Given the description of an element on the screen output the (x, y) to click on. 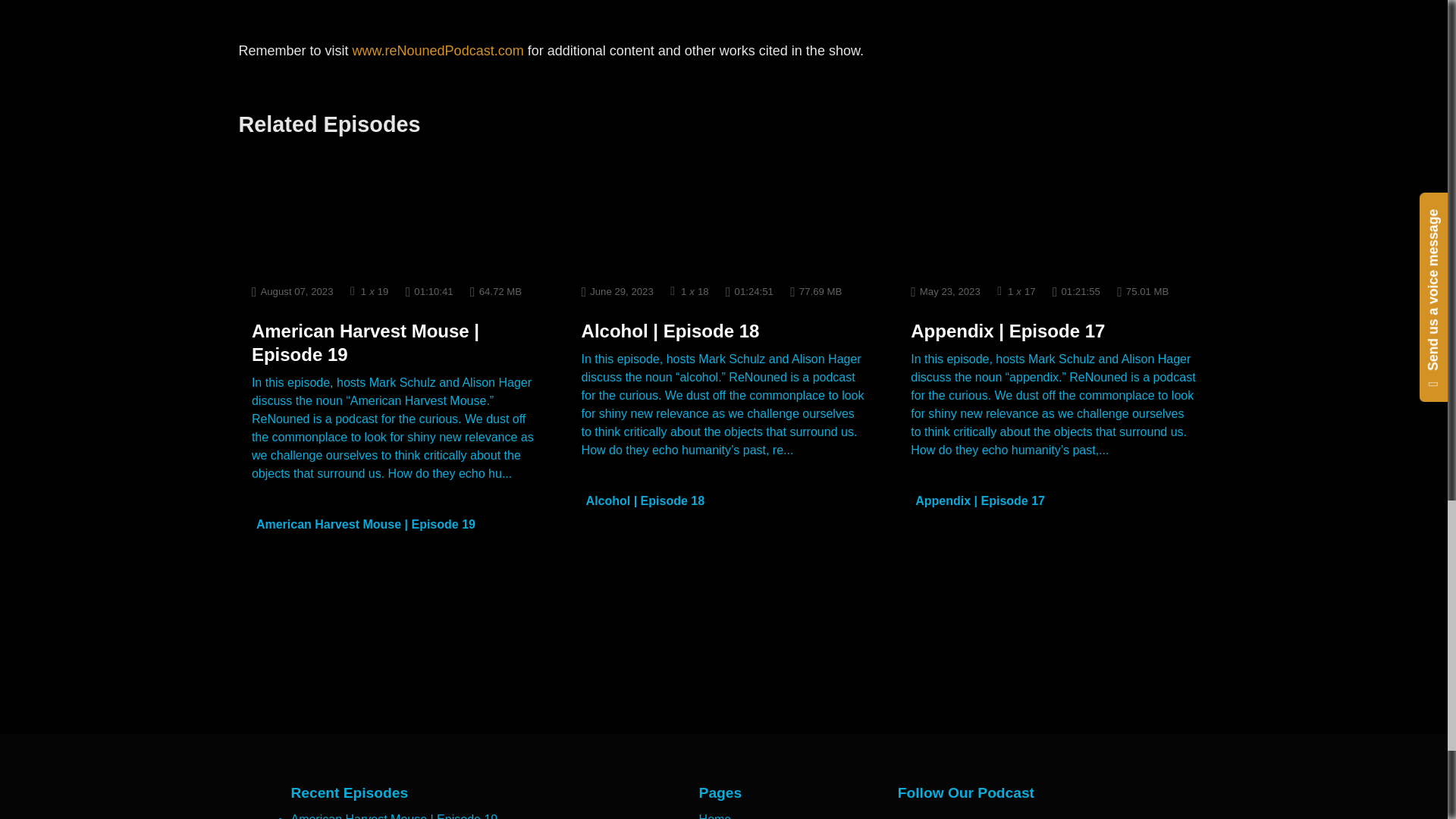
Episode Weight (495, 290)
Episode Duration (429, 290)
www.reNounedPodcast.com (438, 50)
Date (292, 290)
Date (616, 290)
